Given the description of an element on the screen output the (x, y) to click on. 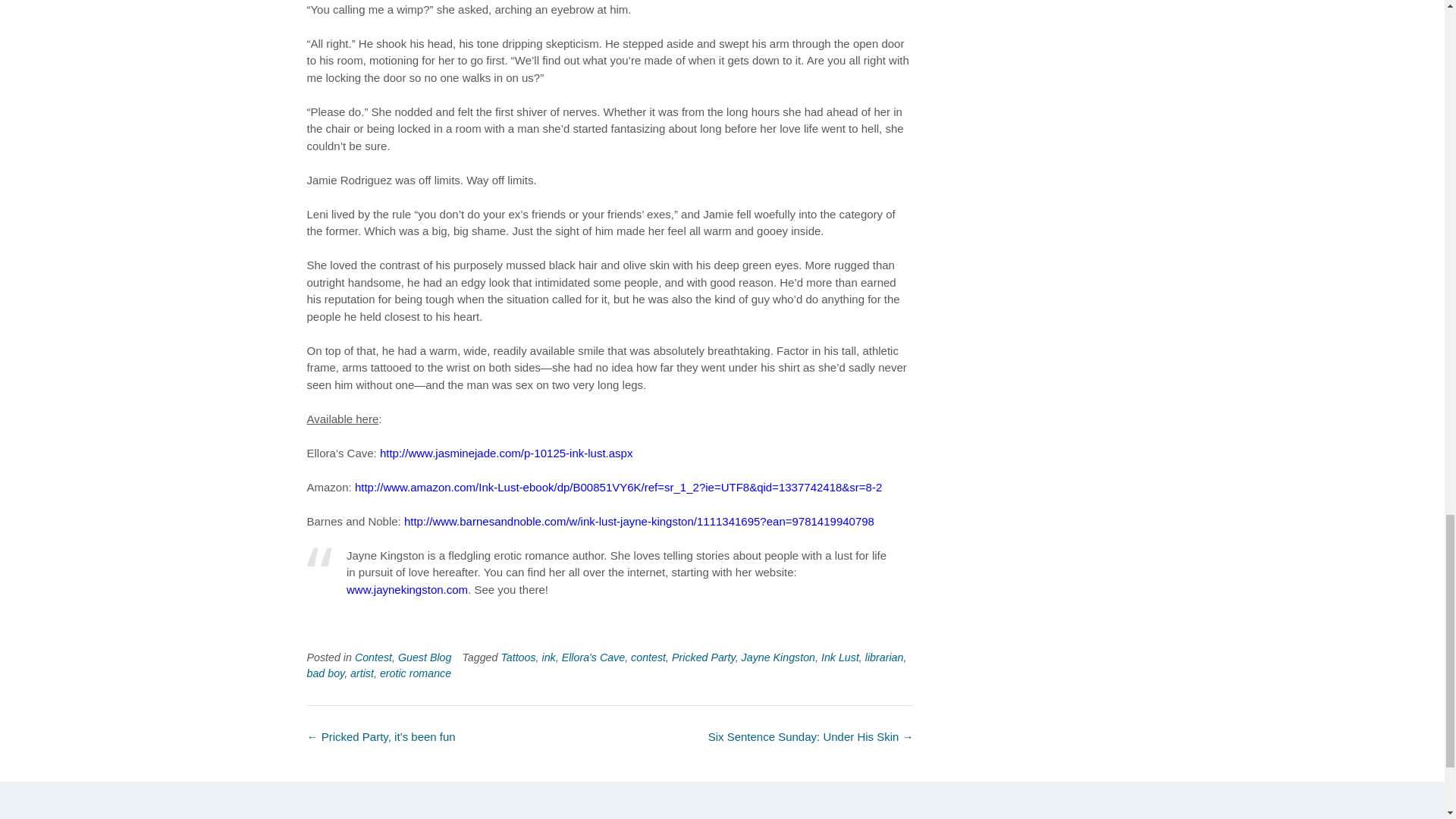
Ellora's Cave (594, 657)
Jayne Kingston (778, 657)
artist (362, 673)
Contest (373, 657)
erotic romance (415, 673)
contest (647, 657)
www.jaynekingston.com (406, 589)
Pricked Party (703, 657)
bad boy (324, 673)
Tattoos (517, 657)
librarian (884, 657)
Ink Lust (840, 657)
Guest Blog (424, 657)
ink (548, 657)
